Given the description of an element on the screen output the (x, y) to click on. 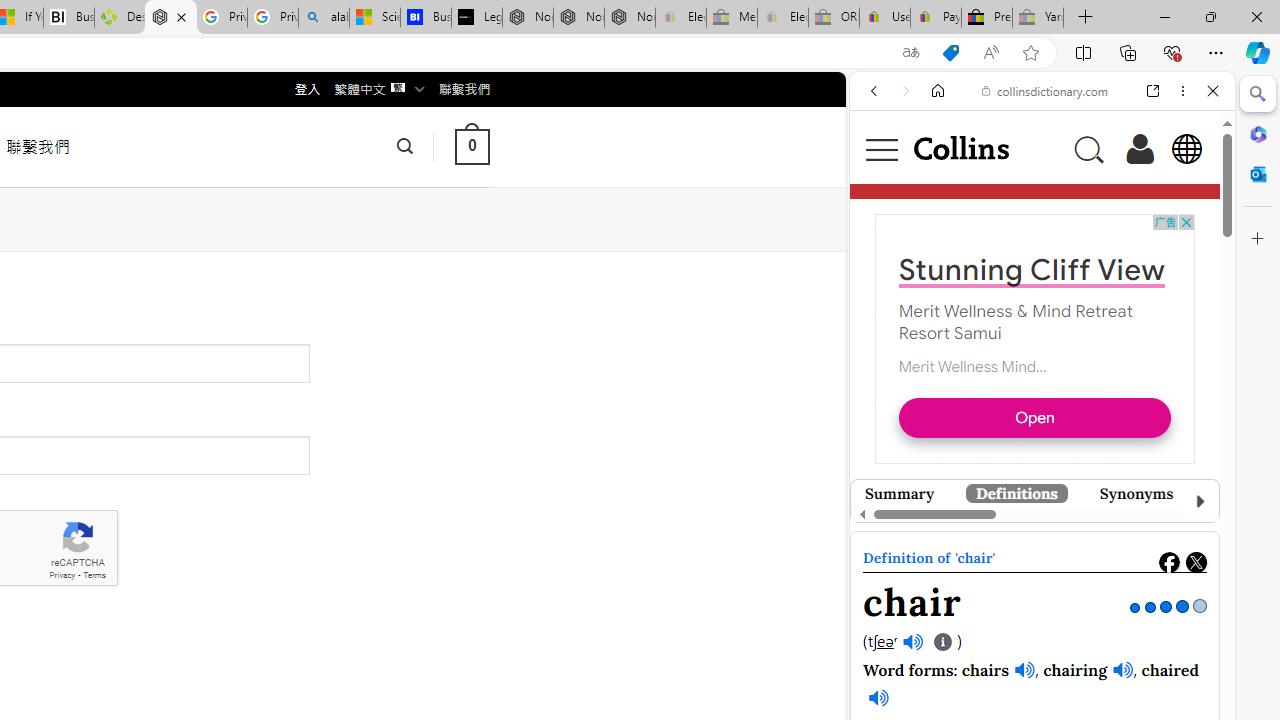
Go to the homepage (960, 147)
Nordace - My Account (170, 17)
Class: ns-vyjj0-e-3 image p9FadeIn (1034, 536)
Open (1035, 416)
Enter a word (987, 323)
Define (1150, 323)
